Given the description of an element on the screen output the (x, y) to click on. 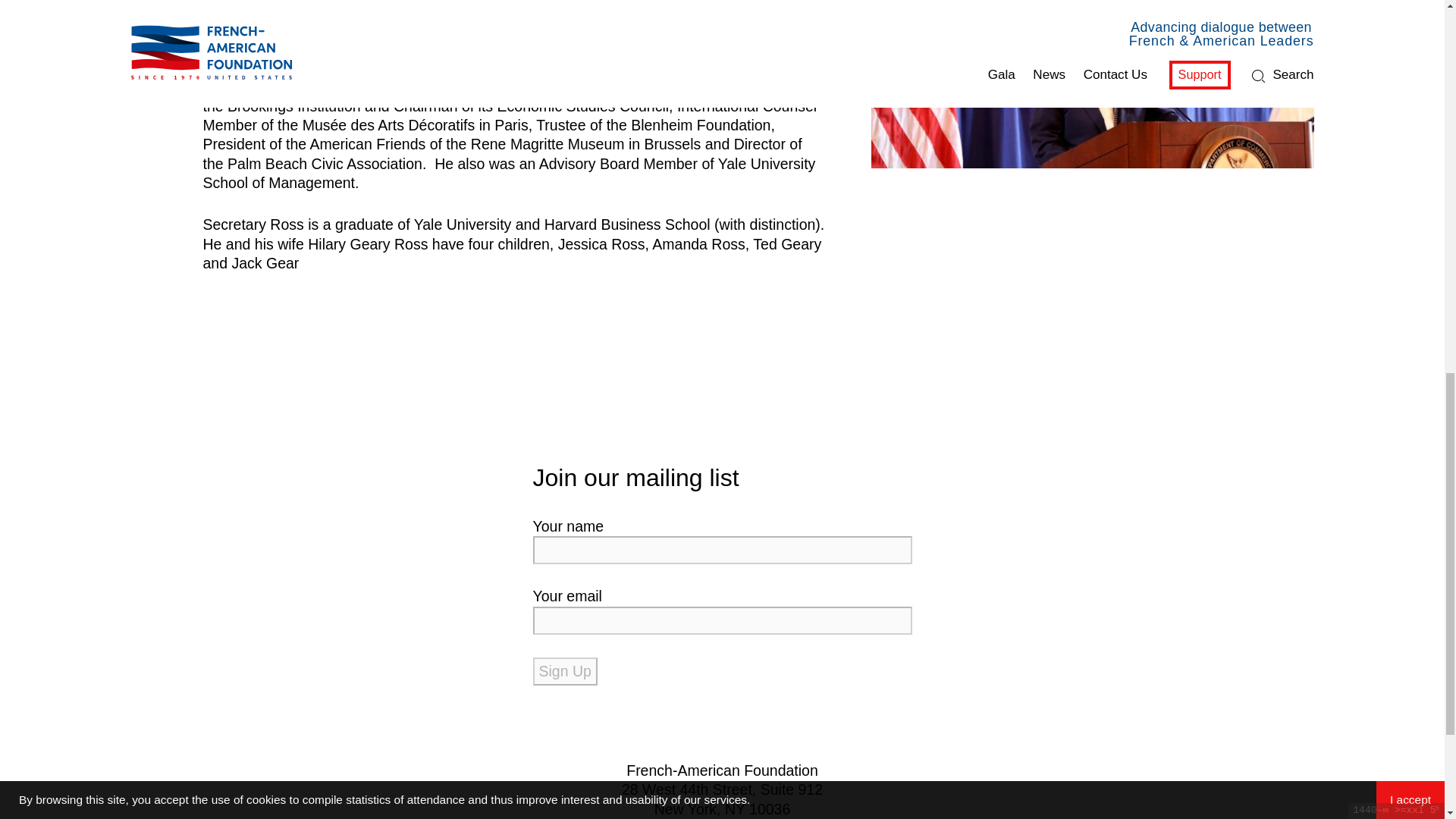
Sign Up (564, 671)
